Given the description of an element on the screen output the (x, y) to click on. 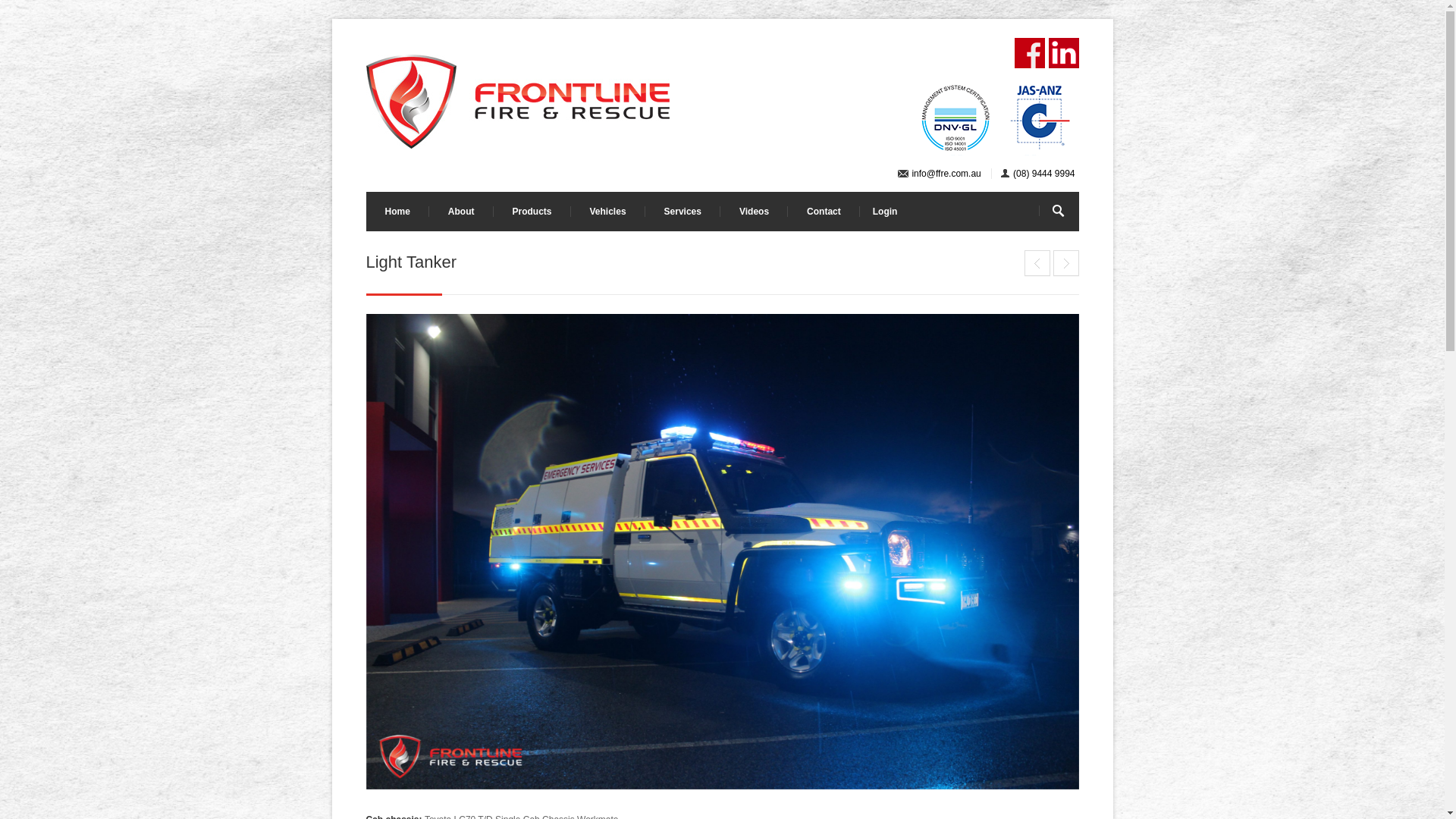
Vehicles Element type: text (608, 211)
(08) 9444 9994 Element type: text (1043, 173)
linkedin Element type: text (1063, 52)
About Element type: text (461, 211)
Products Element type: text (531, 211)
Login Element type: text (884, 211)
facebook Element type: text (1029, 52)
Home Element type: text (396, 211)
Light Tanker Front - Night Element type: hover (721, 551)
Services Element type: text (682, 211)
Videos Element type: text (753, 211)
Industrial Pumper Element type: text (1037, 263)
info@ffre.com.au Element type: text (945, 173)
Contact Element type: text (823, 211)
3.4 Urban Tanker Element type: text (1065, 263)
